Given the description of an element on the screen output the (x, y) to click on. 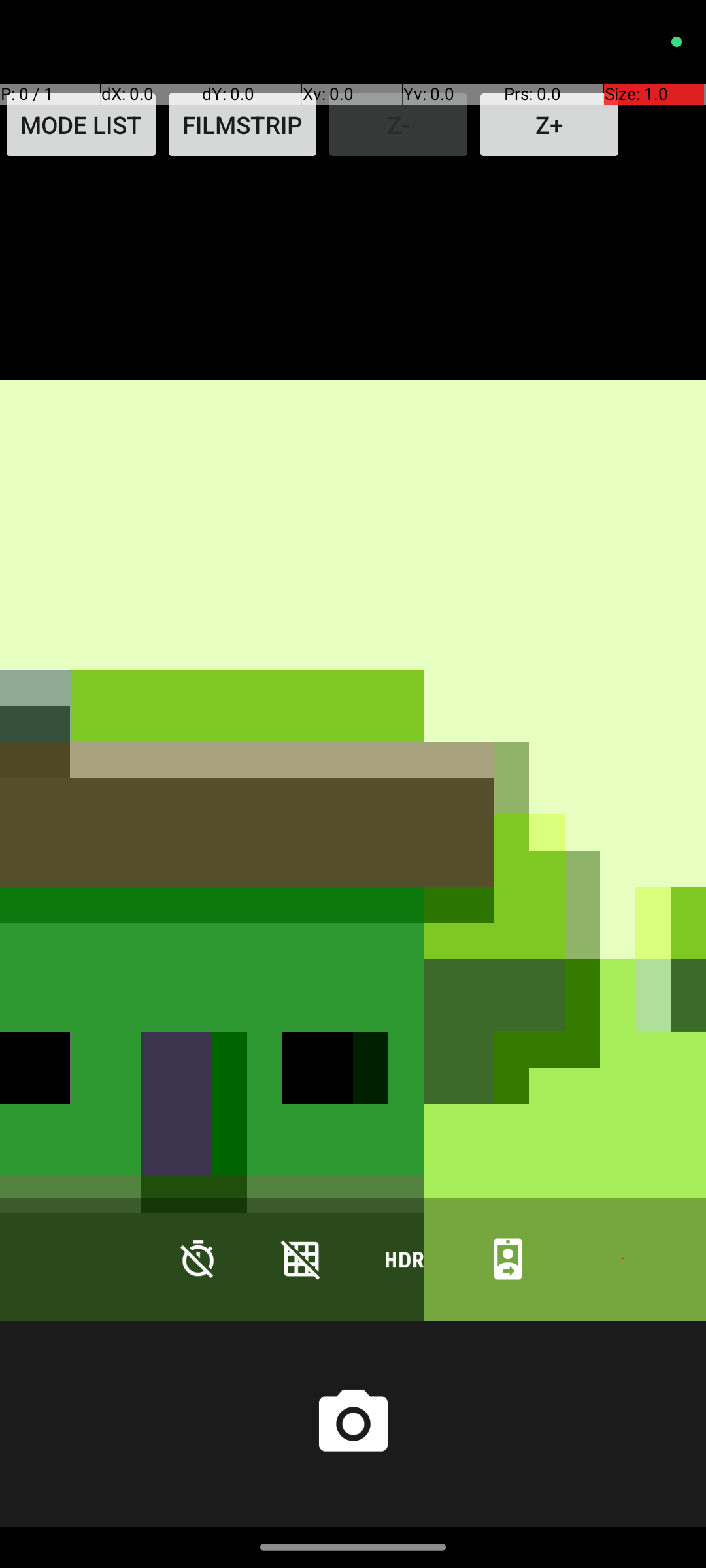
Countdown timer is off Element type: android.widget.ImageButton (197, 1258)
HDR on Element type: android.widget.ImageButton (404, 1258)
Front camera Element type: android.widget.ImageButton (507, 1258)
